Given the description of an element on the screen output the (x, y) to click on. 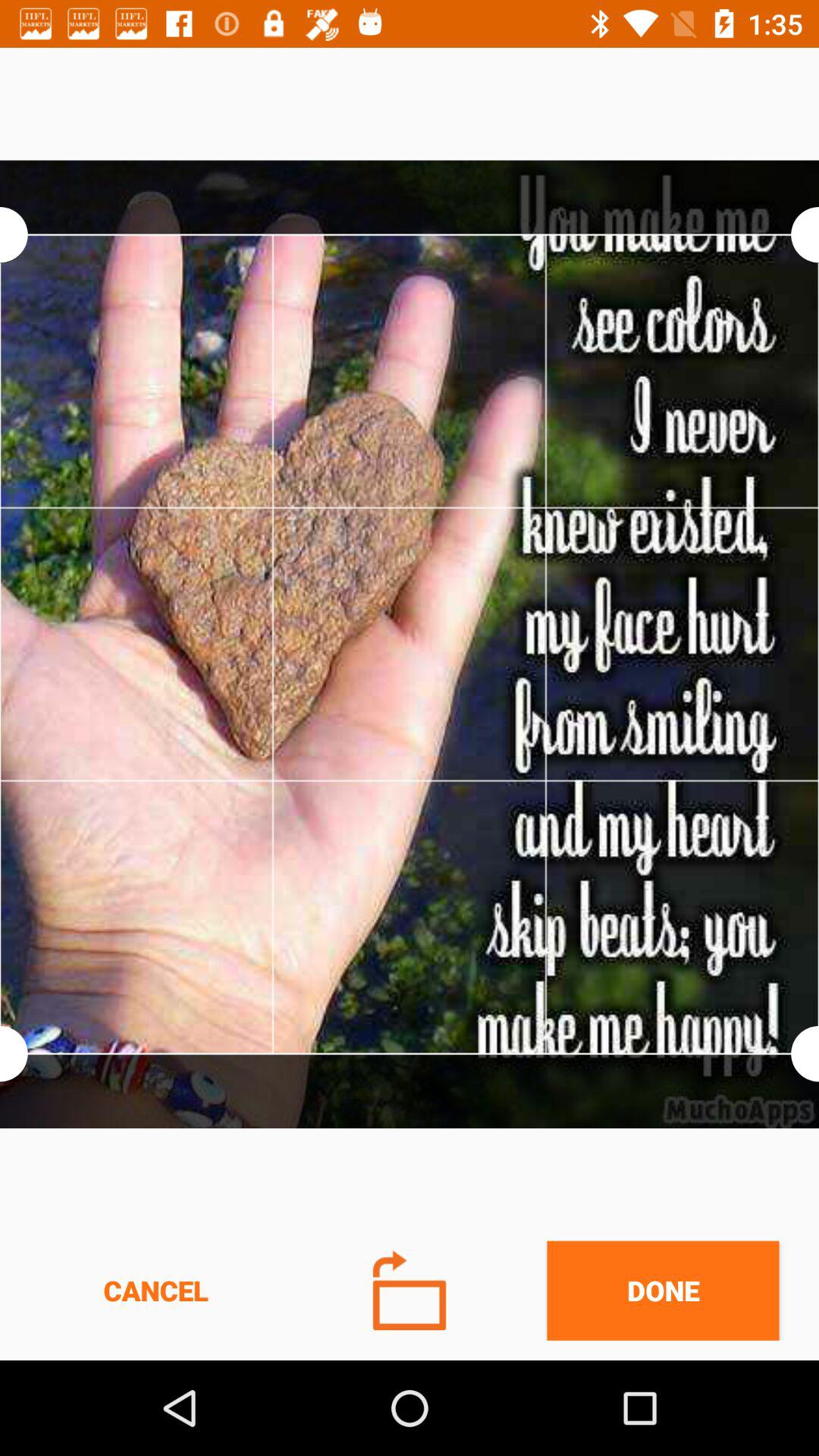
launch button next to done icon (409, 1290)
